Given the description of an element on the screen output the (x, y) to click on. 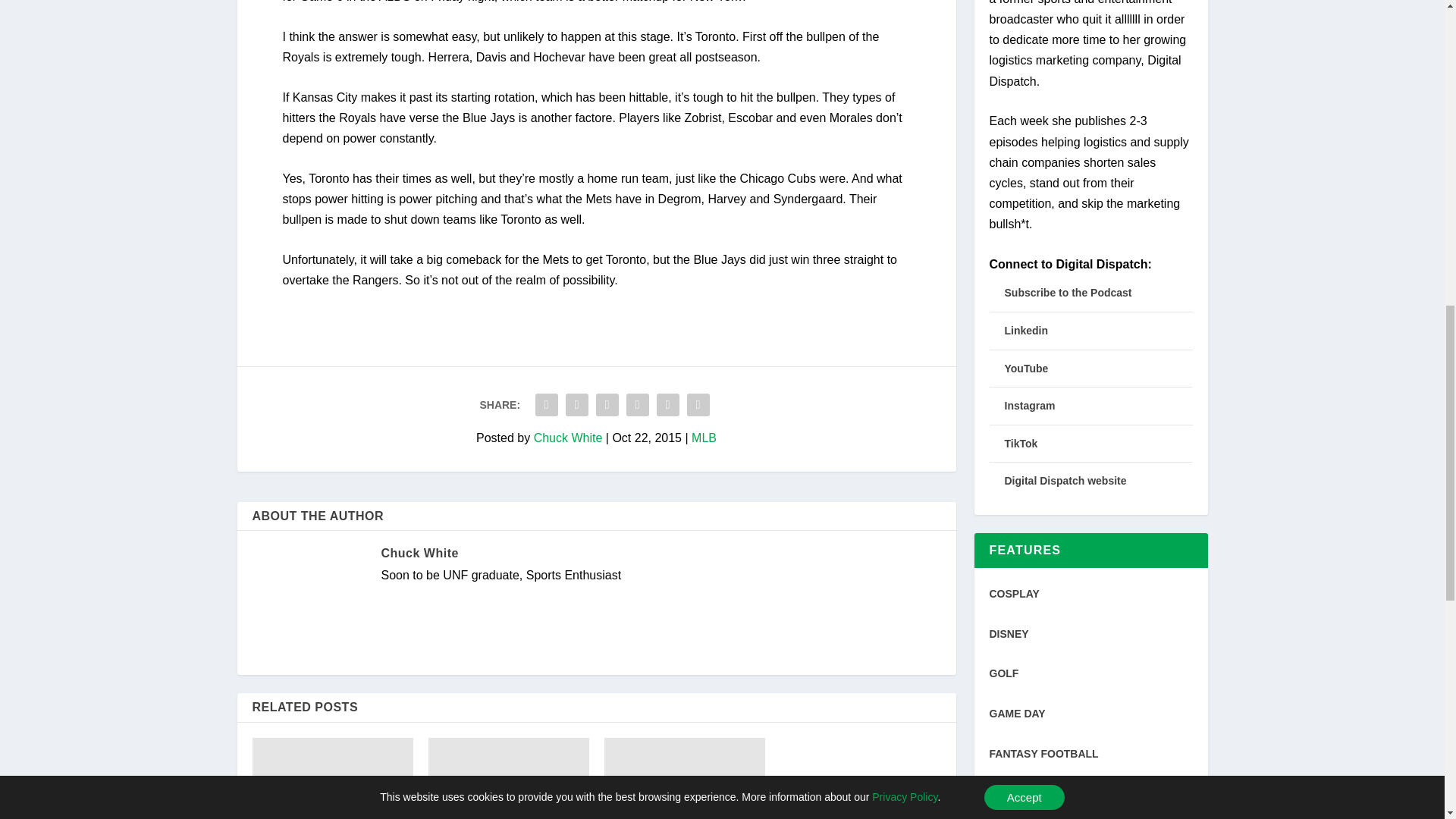
YouTube (1026, 368)
What to Wear To A Football Game (684, 778)
Posts by Chuck White (568, 437)
MLB (703, 437)
Chuck White (568, 437)
Instagram (1029, 405)
Linkedin (1026, 330)
Subscribe to the Podcast (1067, 292)
Chuck White (419, 553)
How NFL Creates Their Schedule Every Season (331, 778)
